Given the description of an element on the screen output the (x, y) to click on. 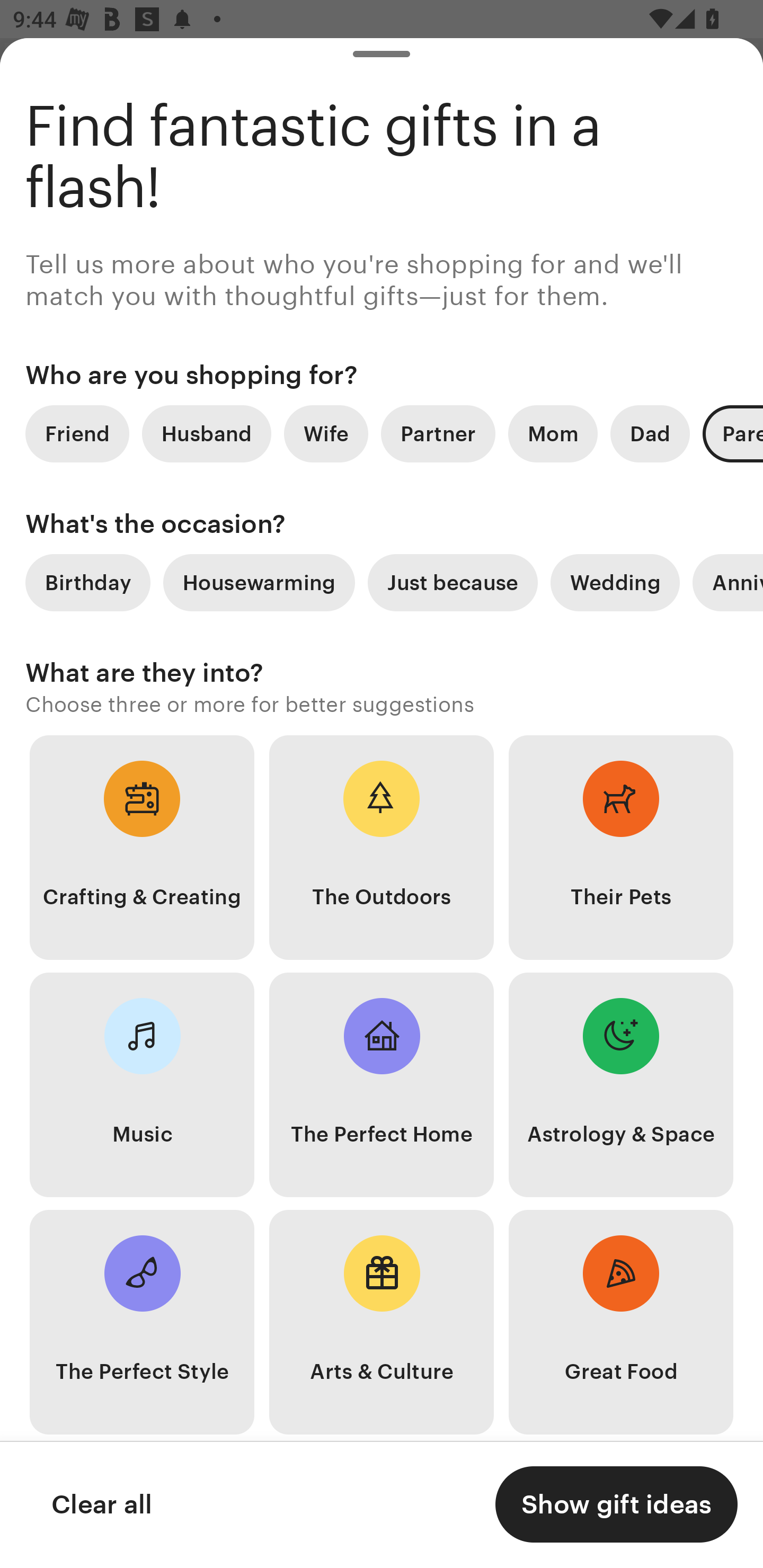
Friend (76, 433)
Husband (206, 433)
Wife (325, 433)
Partner (437, 433)
Mom (552, 433)
Dad (649, 433)
Birthday (87, 582)
Housewarming (258, 582)
Just because (452, 582)
Wedding (614, 582)
Crafting & Creating (141, 847)
The Outdoors (381, 847)
Their Pets (620, 847)
Music (141, 1084)
The Perfect Home (381, 1084)
Astrology & Space (620, 1084)
The Perfect Style (141, 1322)
Arts & Culture (381, 1322)
Great Food (620, 1322)
Clear all (101, 1504)
Show gift ideas (616, 1504)
